Given the description of an element on the screen output the (x, y) to click on. 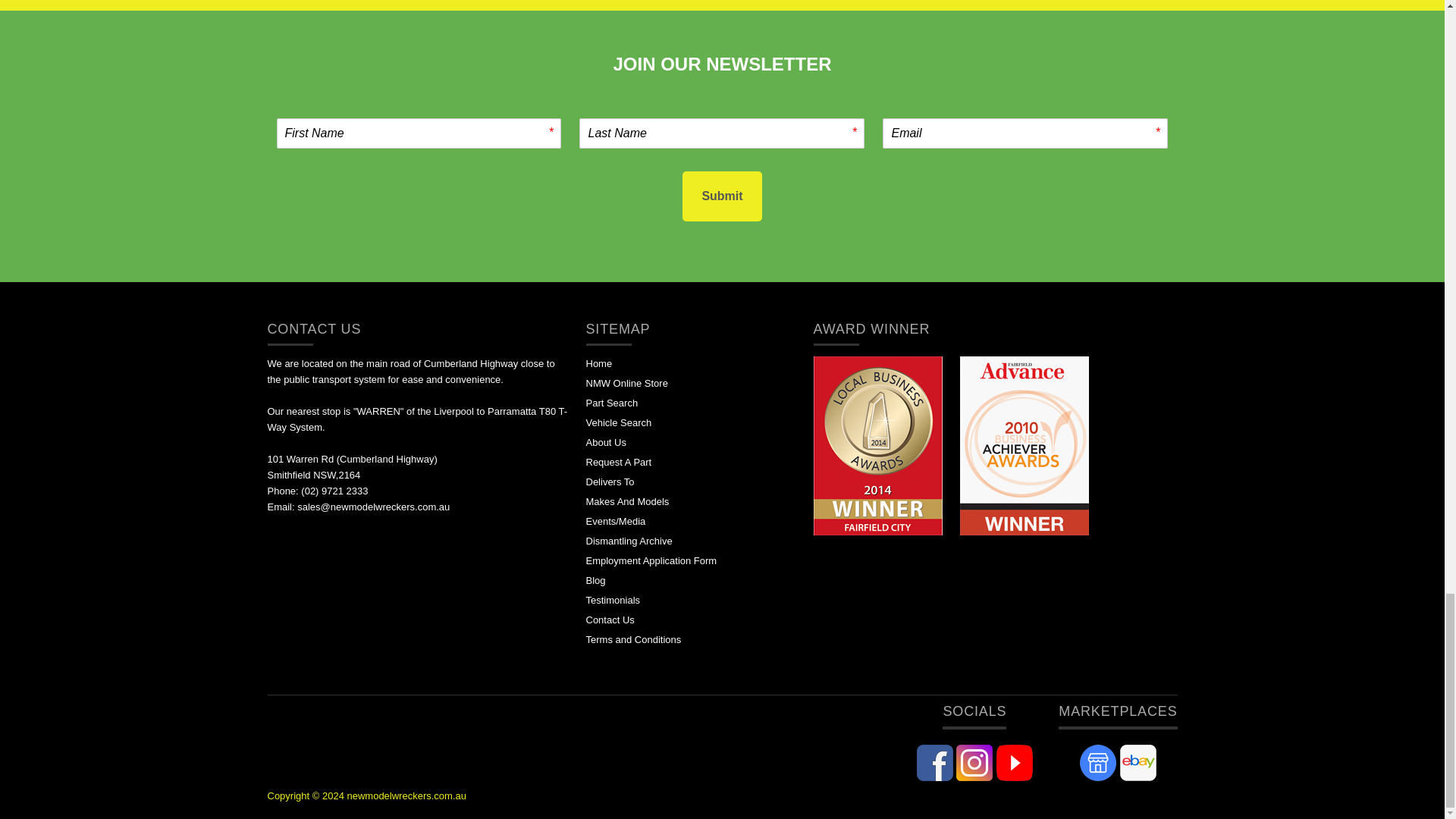
Employment Application Form (650, 560)
Vehicle Search (617, 422)
Home (598, 363)
Terms and Conditions (633, 639)
About Us (605, 441)
Blog (595, 580)
Testimonials (612, 600)
Submit (721, 196)
Contact Us (609, 619)
Dismantling Archive (628, 541)
